Given the description of an element on the screen output the (x, y) to click on. 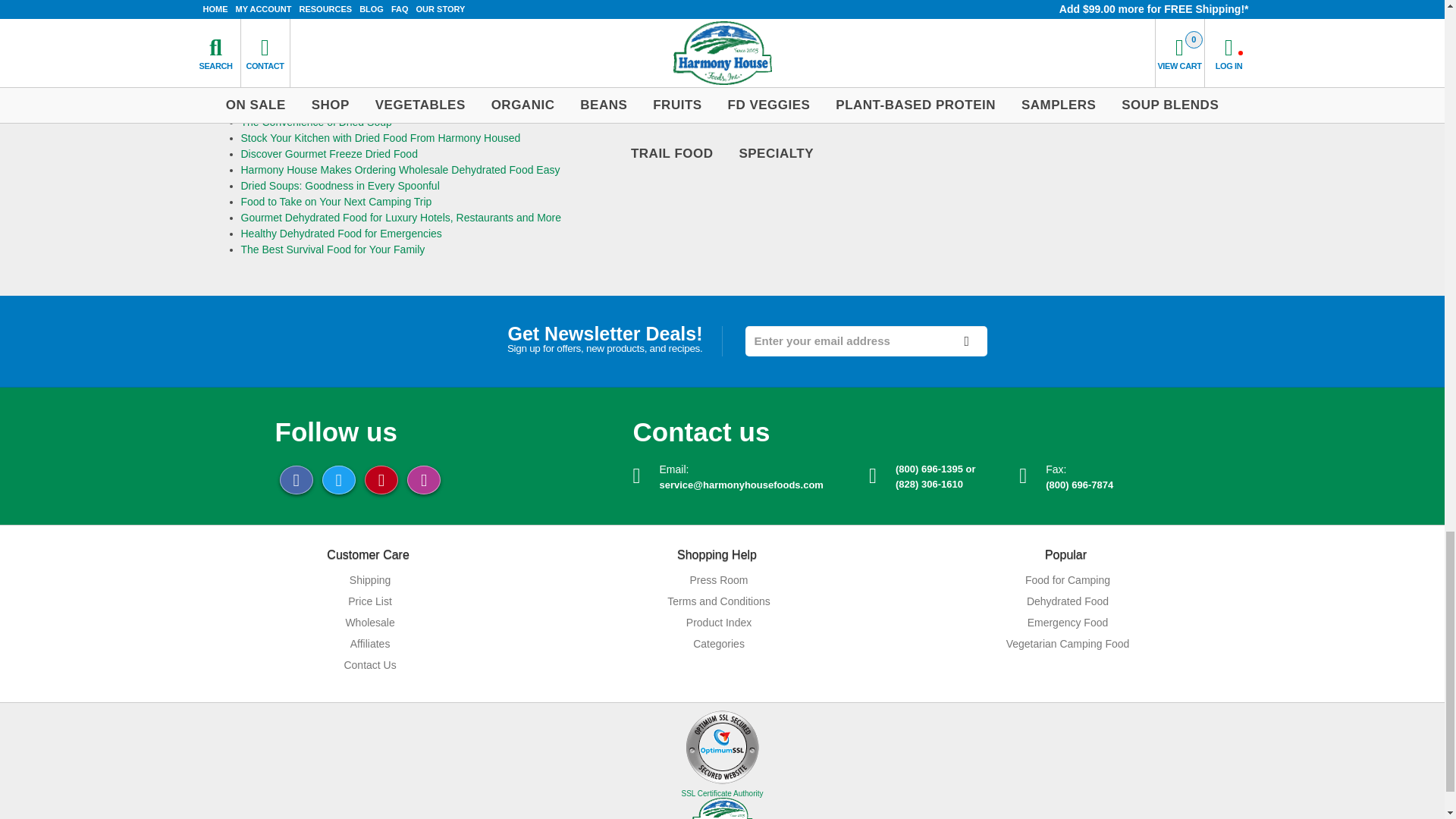
Follow Us on Twitter (338, 479)
Follow Us on Instagram (424, 479)
Healthy Dehydrated Food for Emergencies (341, 233)
Like Us on Facebook (296, 479)
Discover Gourmet Freeze Dried Food (329, 153)
Food to Take on Your Next Camping Trip (336, 201)
The Convenience of Dried Soup (316, 121)
Harmony House Makes Ordering Wholesale Dehydrated Food Easy (400, 169)
Food for Camping (1065, 580)
Stock Your Kitchen with Dried Food From Harmony House (381, 137)
